Given the description of an element on the screen output the (x, y) to click on. 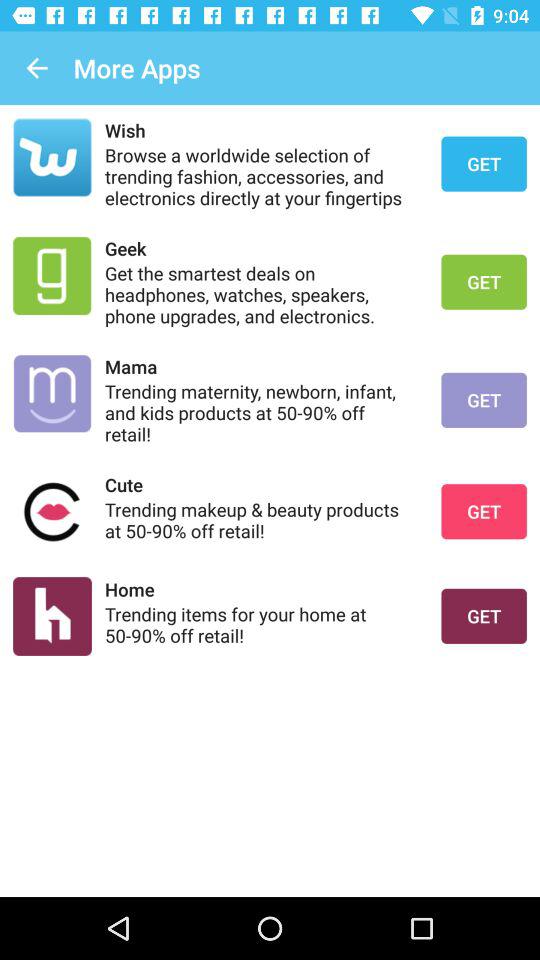
choose item to the left of more apps item (36, 68)
